Given the description of an element on the screen output the (x, y) to click on. 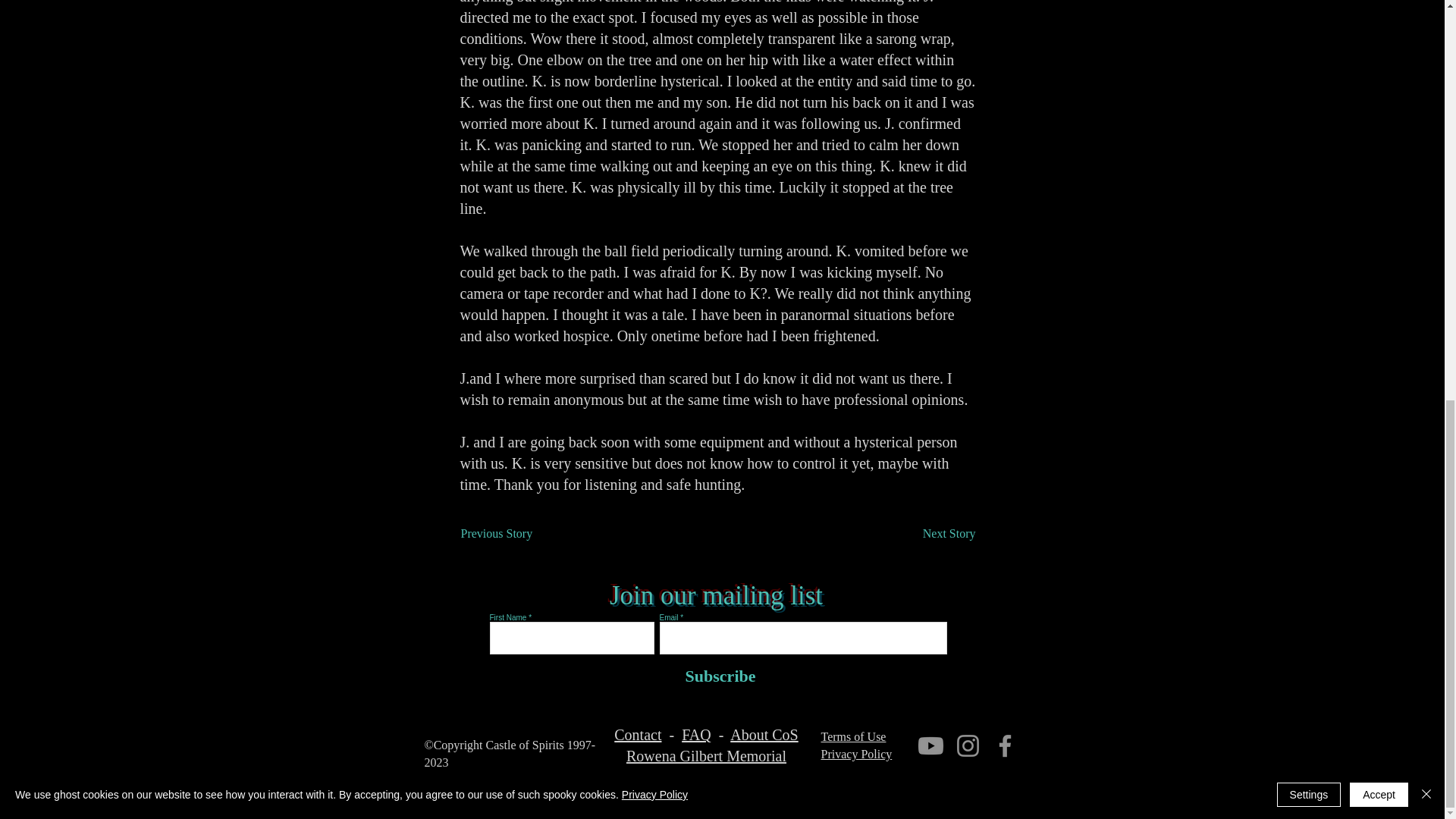
FAQ (696, 734)
Previous Story (510, 533)
Accept (1378, 11)
About CoS (763, 734)
Contact (637, 734)
Privacy Policy (856, 753)
Terms of Use (853, 736)
Subscribe (717, 676)
Rowena Gilbert Memorial (706, 755)
Next Story (937, 533)
